Given the description of an element on the screen output the (x, y) to click on. 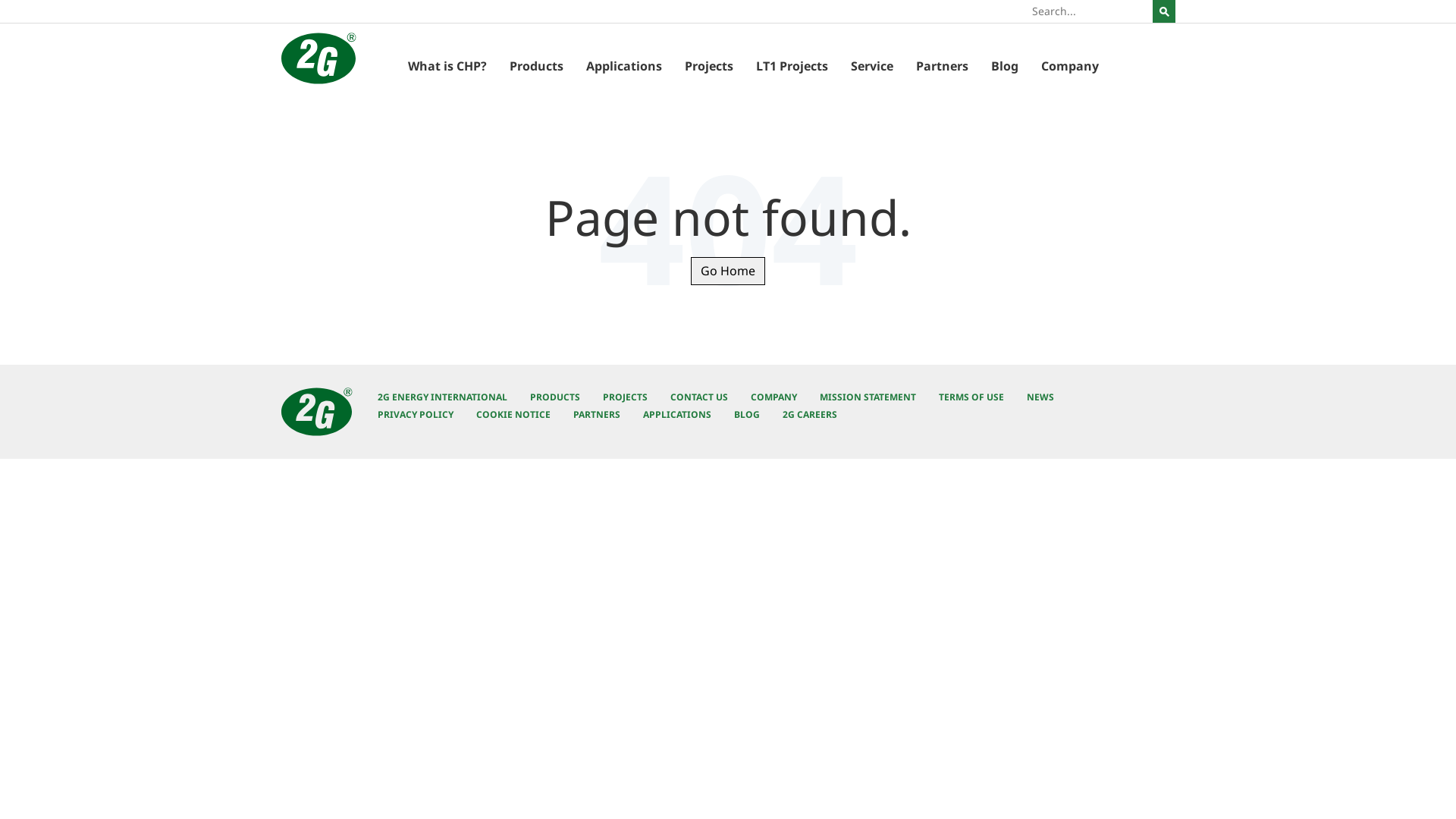
Go Home Element type: text (727, 271)
Partners Element type: text (942, 67)
2G Cenergy Element type: hover (316, 411)
CONTACT US Element type: text (699, 396)
PRODUCTS Element type: text (555, 396)
2G CAREERS Element type: text (809, 413)
Projects Element type: text (708, 67)
NEWS Element type: text (1040, 396)
COMPANY Element type: text (773, 396)
Service Element type: text (871, 67)
LT1 Projects Element type: text (792, 67)
What is CHP? Element type: text (446, 67)
PARTNERS Element type: text (596, 413)
TERMS OF USE Element type: text (971, 396)
2G Energy Inc Logo Element type: hover (318, 58)
2G ENERGY INTERNATIONAL Element type: text (442, 396)
COOKIE NOTICE Element type: text (513, 413)
PROJECTS Element type: text (624, 396)
BLOG Element type: text (746, 413)
APPLICATIONS Element type: text (677, 413)
Company Element type: text (1069, 67)
Blog Element type: text (1004, 67)
Products Element type: text (536, 67)
Applications Element type: text (624, 67)
MISSION STATEMENT Element type: text (867, 396)
PRIVACY POLICY Element type: text (415, 413)
